Given the description of an element on the screen output the (x, y) to click on. 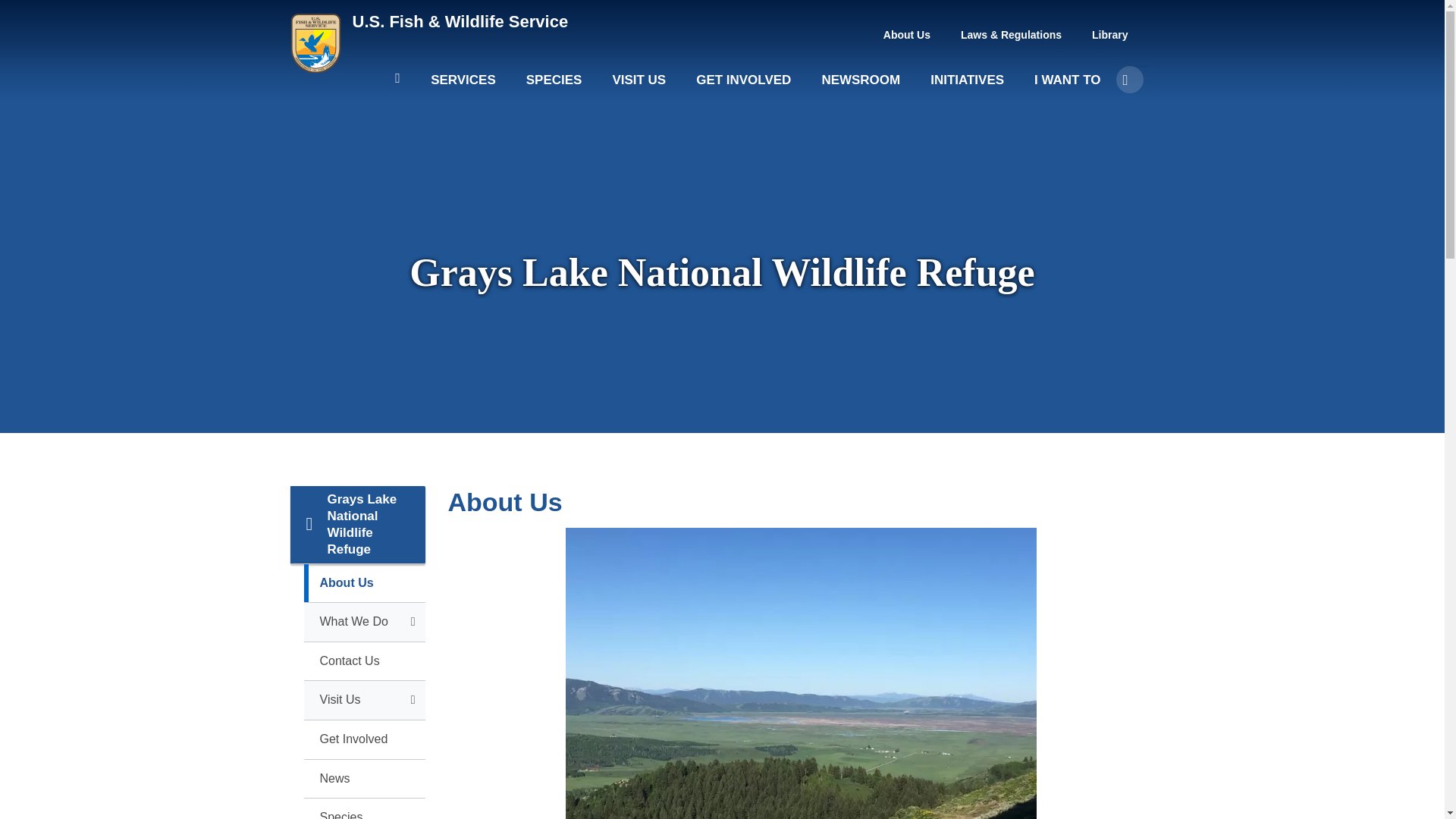
About Us (906, 34)
Library (1109, 34)
Access services provided by FWS (463, 86)
FWS Home (459, 21)
SERVICES (463, 86)
